Given the description of an element on the screen output the (x, y) to click on. 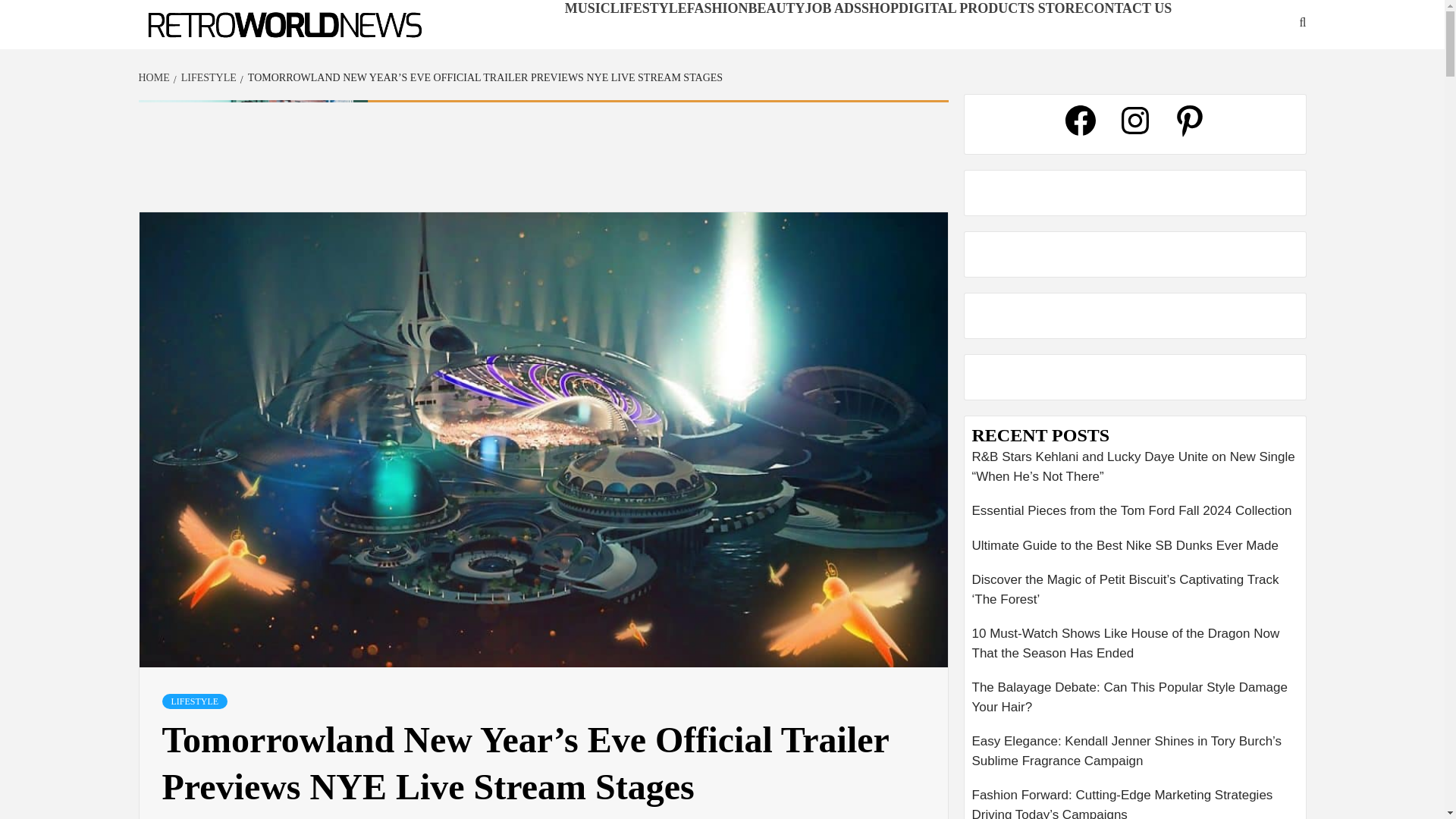
DIGITAL PRODUCTS STORE (990, 7)
RETROWORLDNEWS (223, 48)
LIFESTYLE (648, 7)
BEAUTY (776, 7)
JOB ADS (833, 7)
FASHION (717, 7)
HOME (155, 77)
MUSIC (587, 7)
CONTACT US (1127, 7)
LIFESTYLE (194, 701)
